Given the description of an element on the screen output the (x, y) to click on. 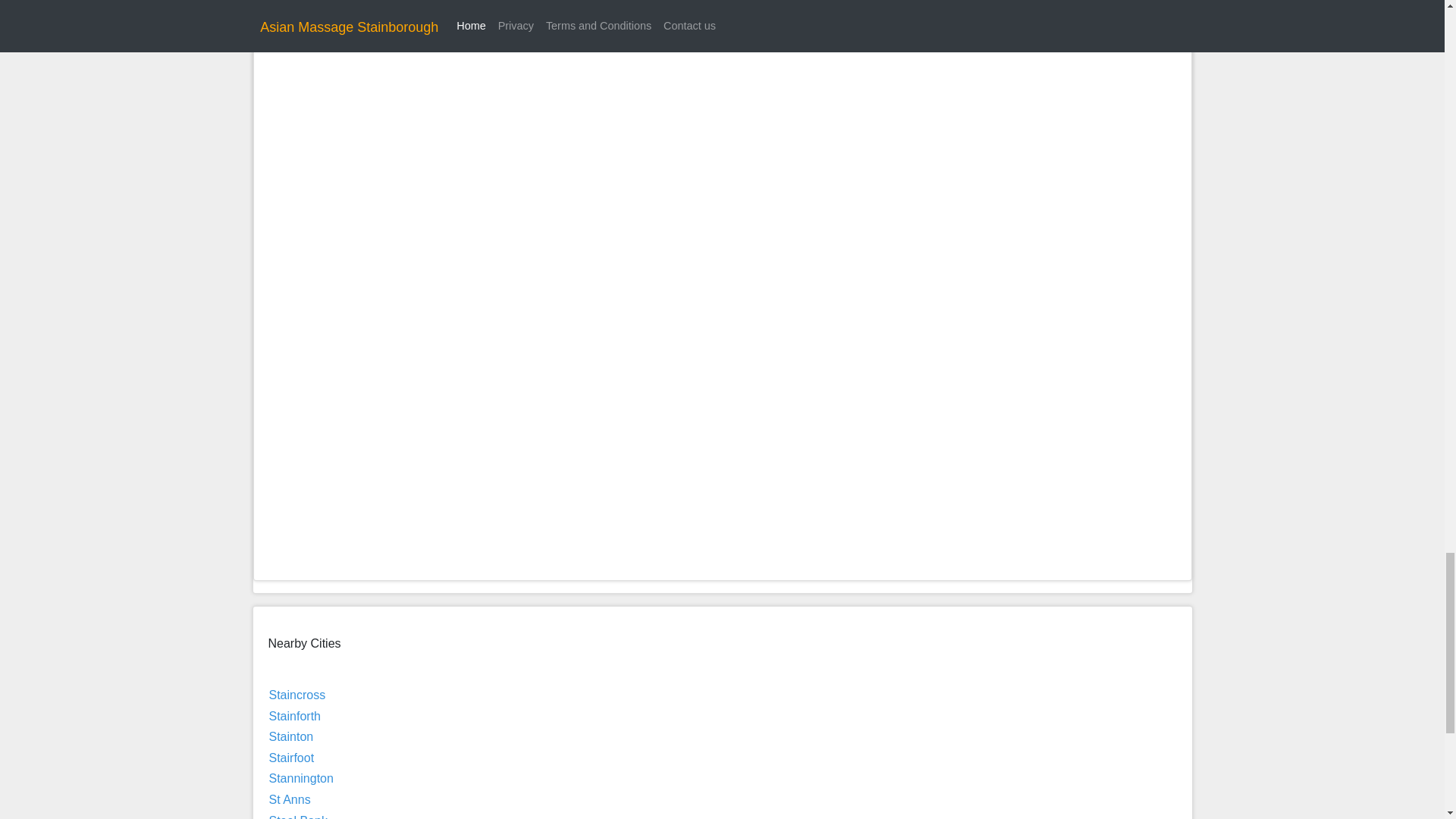
Stainton (290, 736)
Steel Bank (296, 816)
Stairfoot (290, 757)
Stannington (300, 778)
Staincross (295, 694)
St Anns (288, 799)
Stainforth (293, 716)
